Given the description of an element on the screen output the (x, y) to click on. 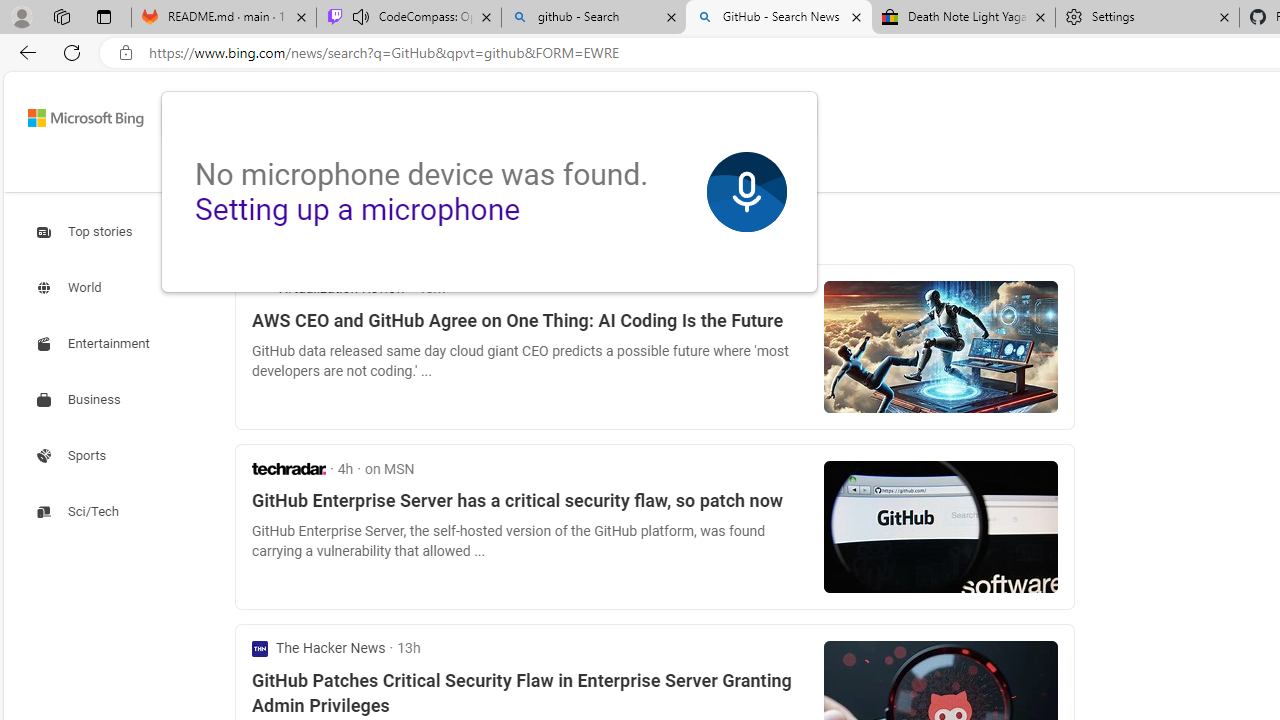
Setting up a microphone (357, 209)
github - Search (593, 17)
Search (786, 117)
Best match (397, 232)
VIDEOS (473, 170)
Stop listening (746, 192)
Personal Profile (21, 16)
TechRadar (289, 468)
View site information (125, 53)
Search news about Top stories (86, 231)
Refresh (72, 52)
SEARCH (219, 170)
Tab actions menu (104, 16)
